Given the description of an element on the screen output the (x, y) to click on. 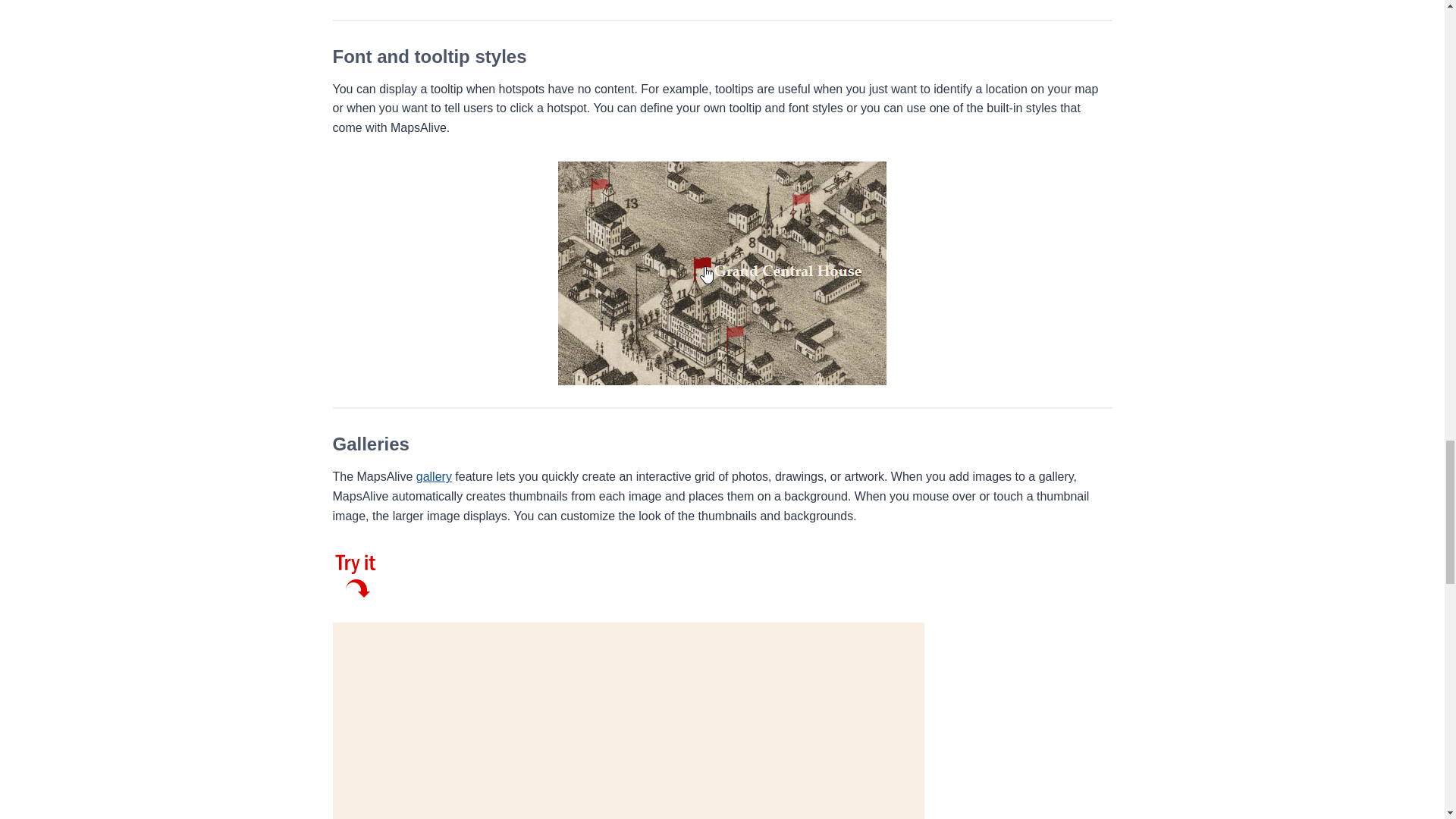
Use tooltips to identify locations on a map (721, 272)
gallery (433, 476)
Interactive gallery of autumn in Vermont (355, 573)
